Given the description of an element on the screen output the (x, y) to click on. 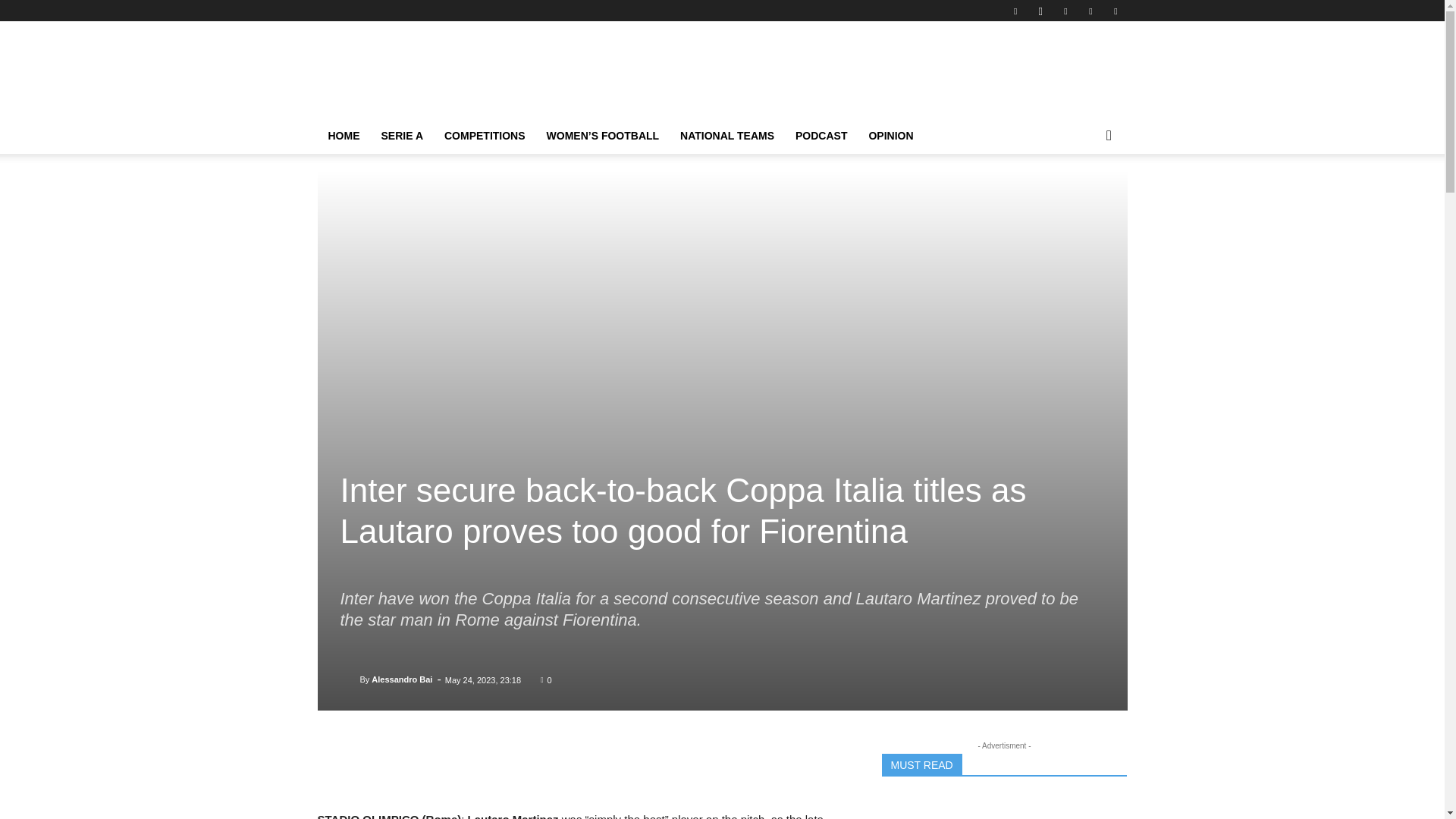
Instagram (1040, 10)
TikTok (1090, 10)
Twitter (1114, 10)
Alessandro Bai (349, 679)
Facebook (1015, 10)
Mail (1065, 10)
